Given the description of an element on the screen output the (x, y) to click on. 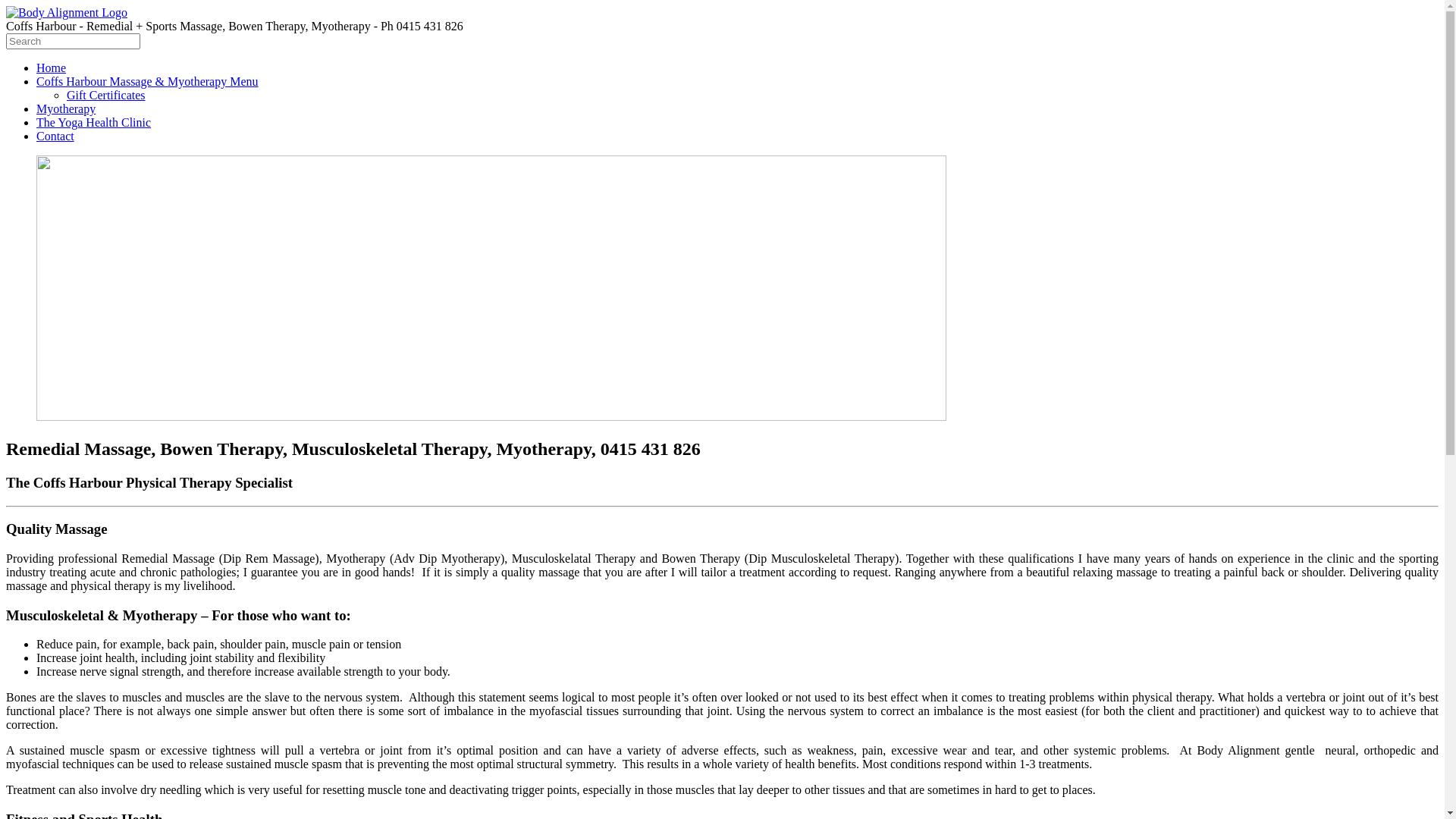
The Yoga Health Clinic Element type: text (93, 122)
Contact Element type: text (55, 135)
Home Element type: text (50, 67)
Body Alignment Element type: hover (66, 12)
Myotherapy Element type: text (65, 108)
Gift Certificates Element type: text (105, 94)
Coffs Harbour Massage & Myotherapy Menu Element type: text (147, 81)
